Given the description of an element on the screen output the (x, y) to click on. 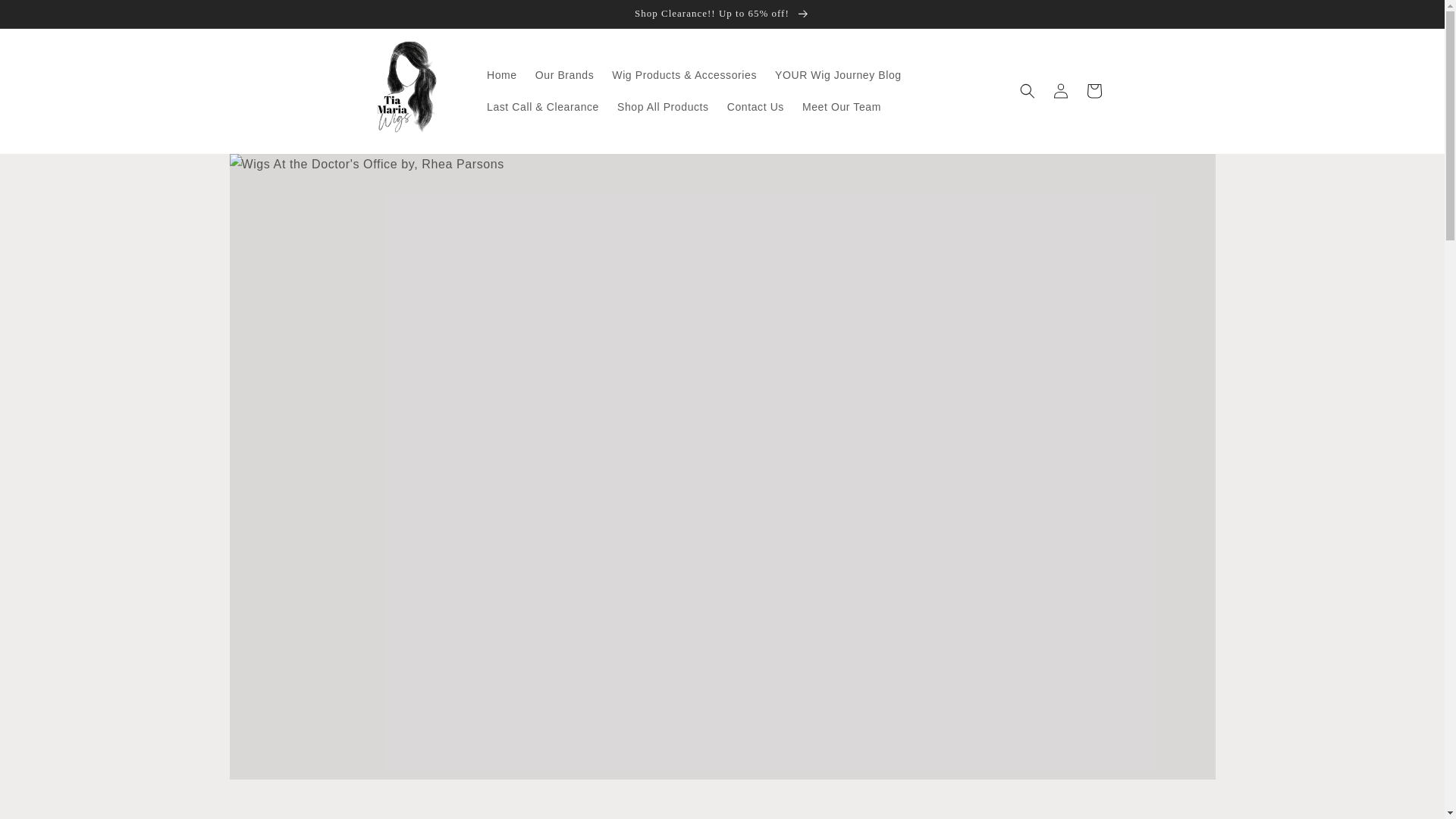
Meet Our Team (841, 106)
Our Brands (564, 74)
Cart (1093, 90)
Log in (1060, 90)
Contact Us (755, 106)
Skip to content (45, 17)
Shop All Products (662, 106)
Home (501, 74)
YOUR Wig Journey Blog (838, 74)
